Given the description of an element on the screen output the (x, y) to click on. 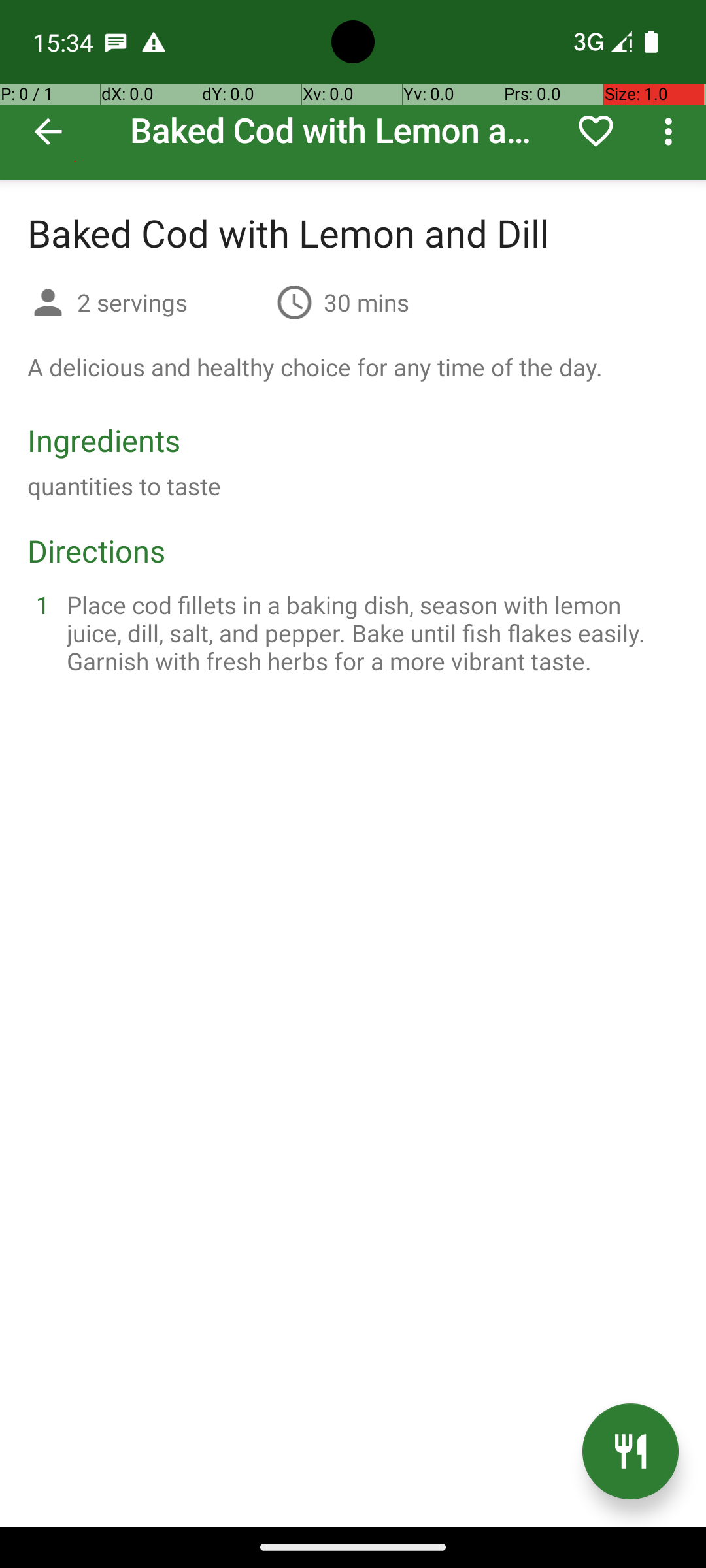
Place cod fillets in a baking dish, season with lemon juice, dill, salt, and pepper. Bake until fish flakes easily. Garnish with fresh herbs for a more vibrant taste. Element type: android.widget.TextView (368, 632)
